Given the description of an element on the screen output the (x, y) to click on. 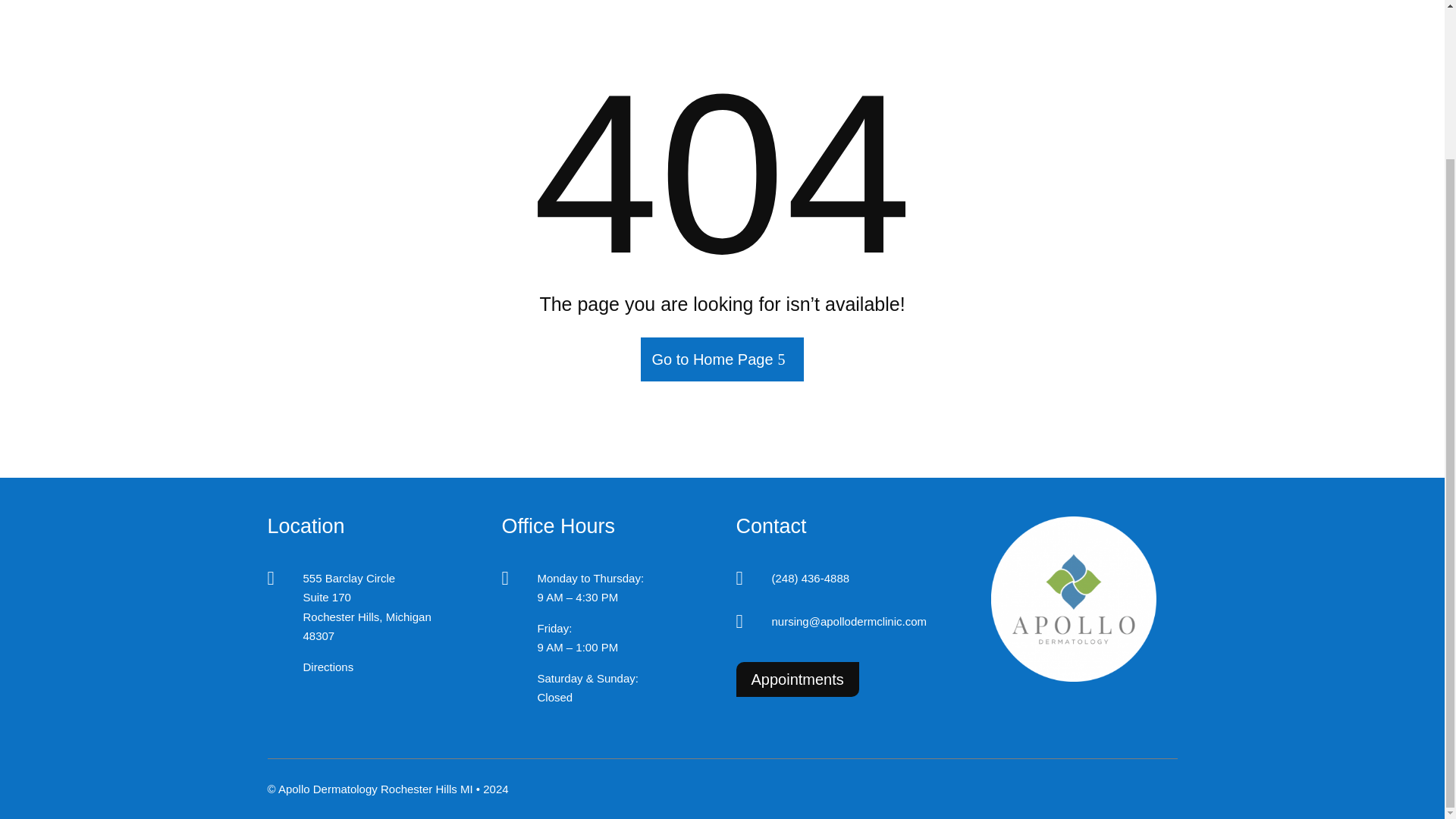
apollo-dermatology-circle-logo-300x300 (1073, 598)
